Given the description of an element on the screen output the (x, y) to click on. 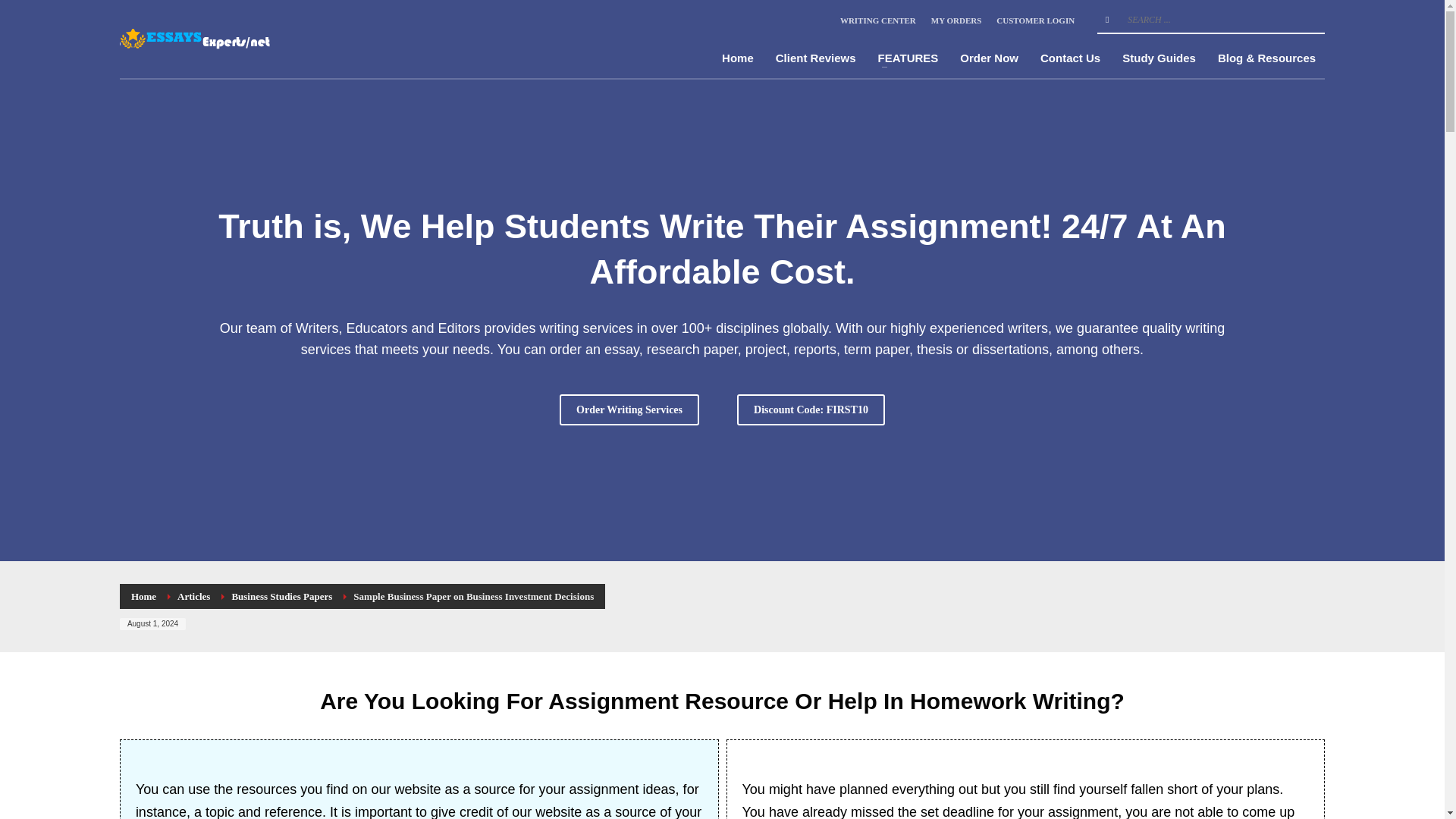
Contact Us (1069, 57)
WRITING CENTER (877, 20)
Order Now (988, 57)
Articles (193, 595)
Articles (193, 595)
Study Guides (1159, 57)
Discount Code: FIRST10 (810, 409)
Order Writing Services (628, 409)
Homework Help (200, 38)
Client Reviews (815, 57)
